Given the description of an element on the screen output the (x, y) to click on. 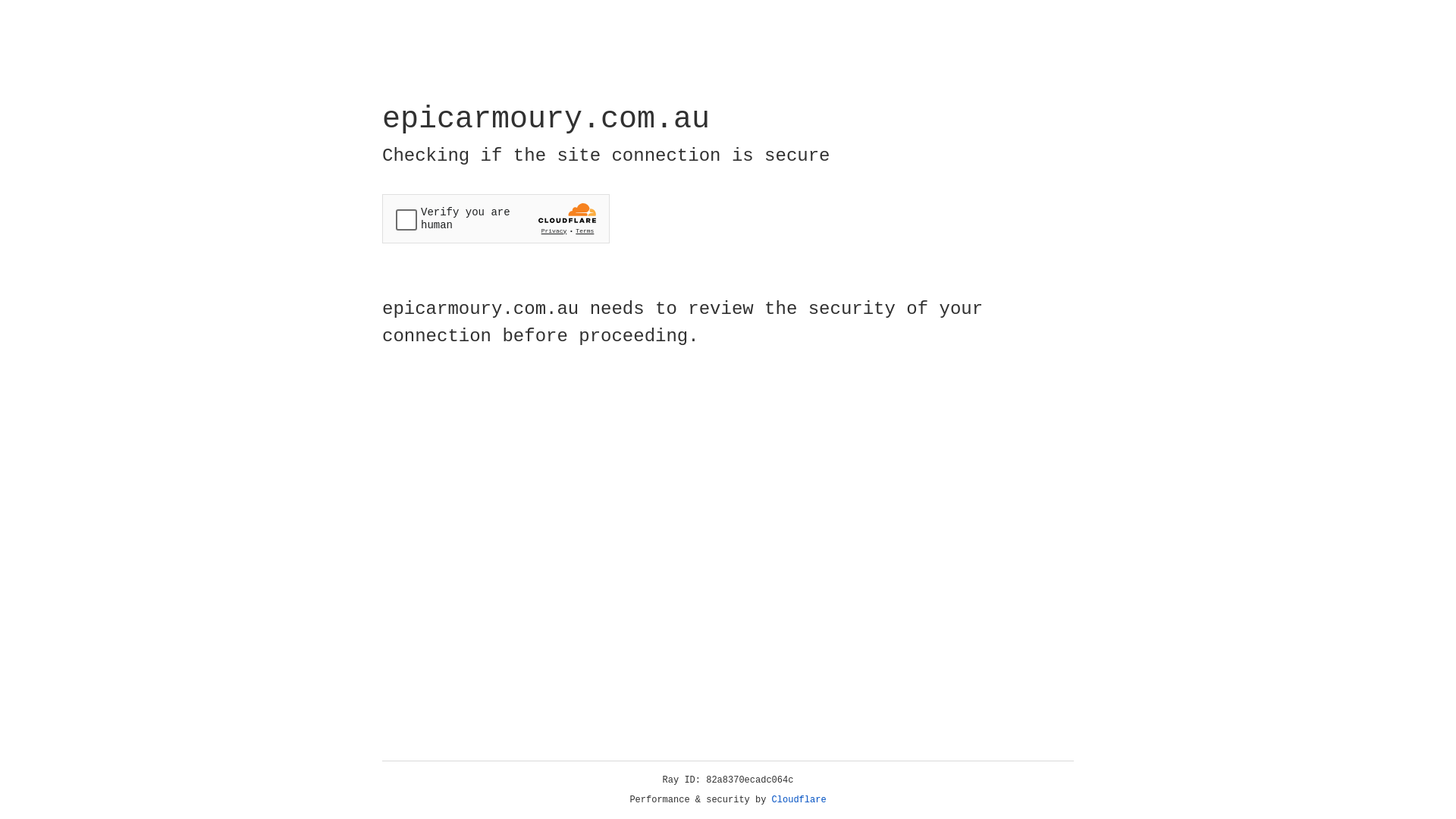
Cloudflare Element type: text (798, 799)
Widget containing a Cloudflare security challenge Element type: hover (495, 218)
